Given the description of an element on the screen output the (x, y) to click on. 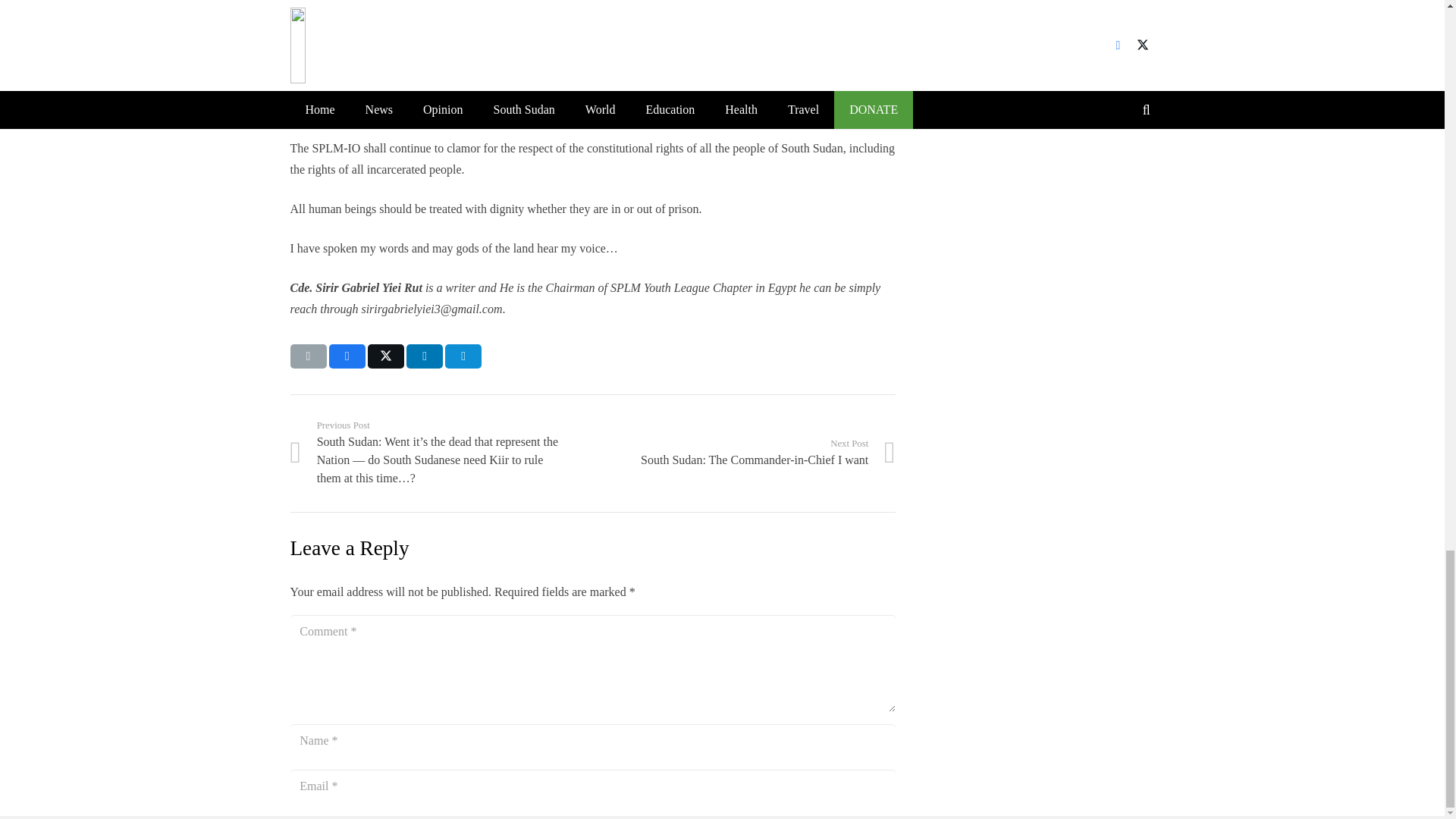
South Sudan: The Commander-in-Chief I want (743, 452)
Share this (347, 355)
Share this (743, 452)
Tweet this (463, 355)
Email this (386, 355)
Share this (307, 355)
